Given the description of an element on the screen output the (x, y) to click on. 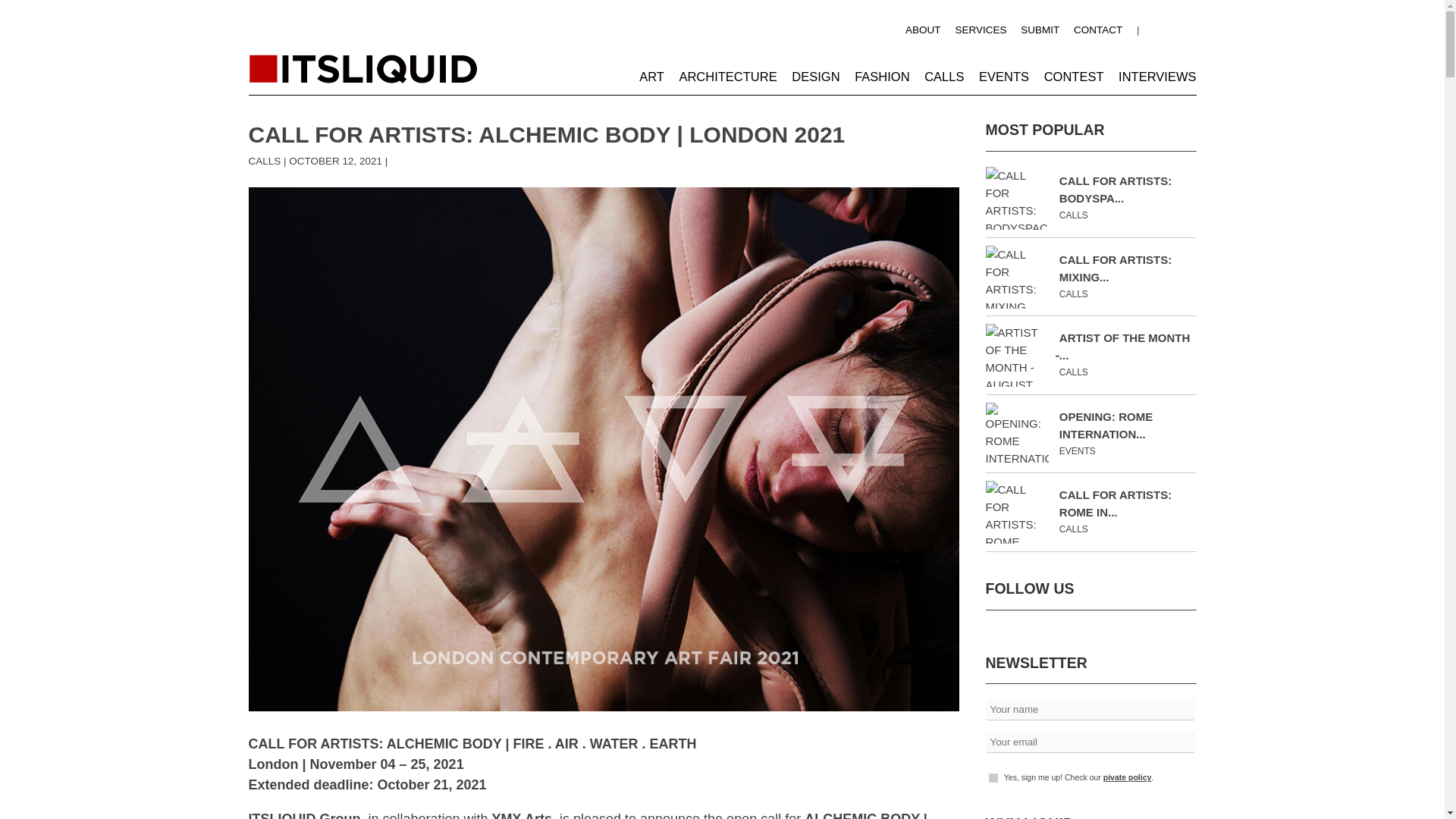
EVENTS (1003, 76)
ART (651, 76)
DESIGN (816, 76)
consent (992, 777)
SUBMIT (1039, 30)
SERVICES (980, 30)
FASHION (881, 76)
ARCHITECTURE (727, 76)
CALLS (264, 161)
CALLS (943, 76)
